Given the description of an element on the screen output the (x, y) to click on. 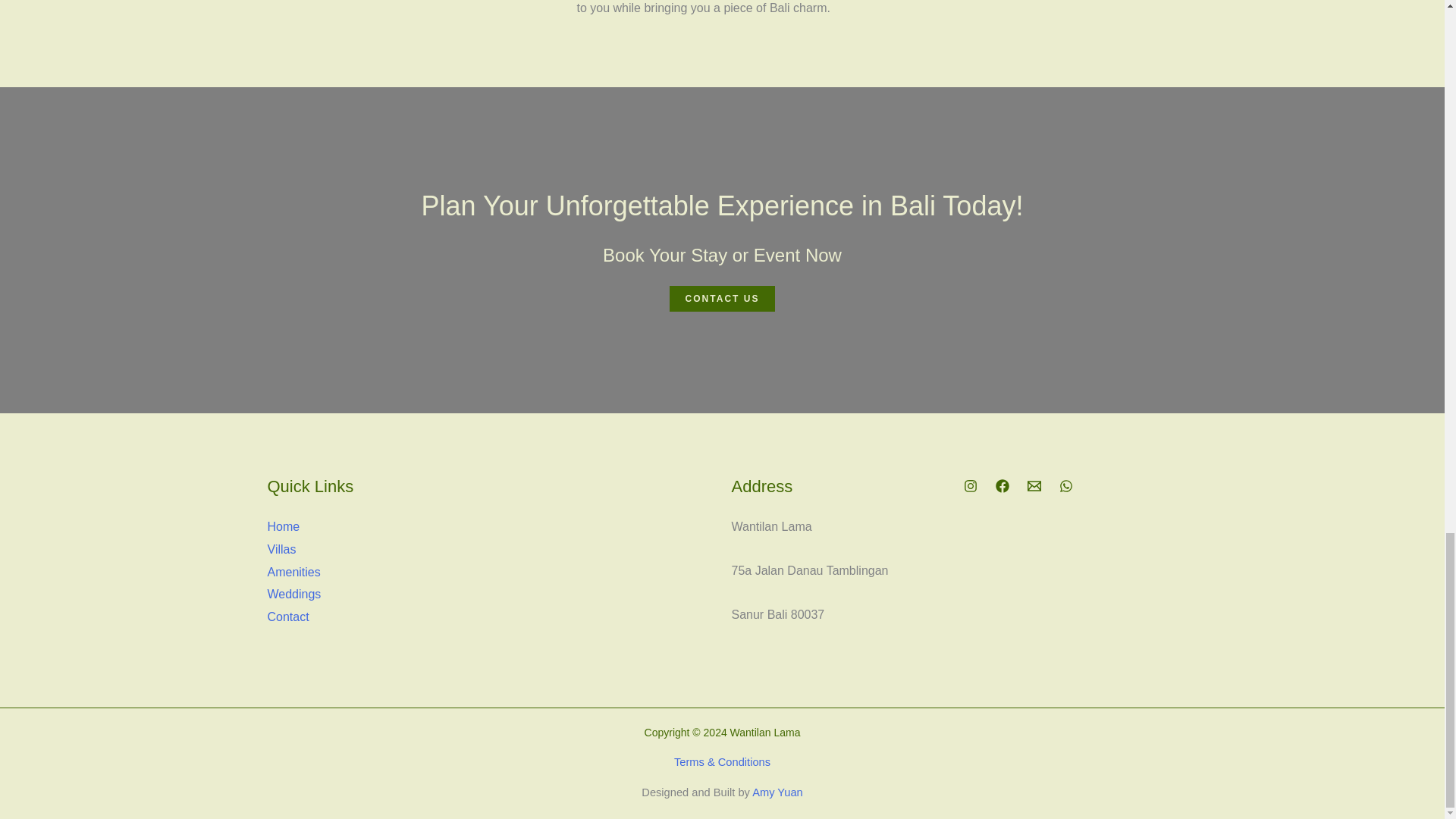
Home (282, 526)
Amy Yuan (777, 792)
CONTACT US (722, 298)
Contact (287, 616)
Amenities (293, 571)
Villas (280, 549)
Weddings (293, 594)
